Given the description of an element on the screen output the (x, y) to click on. 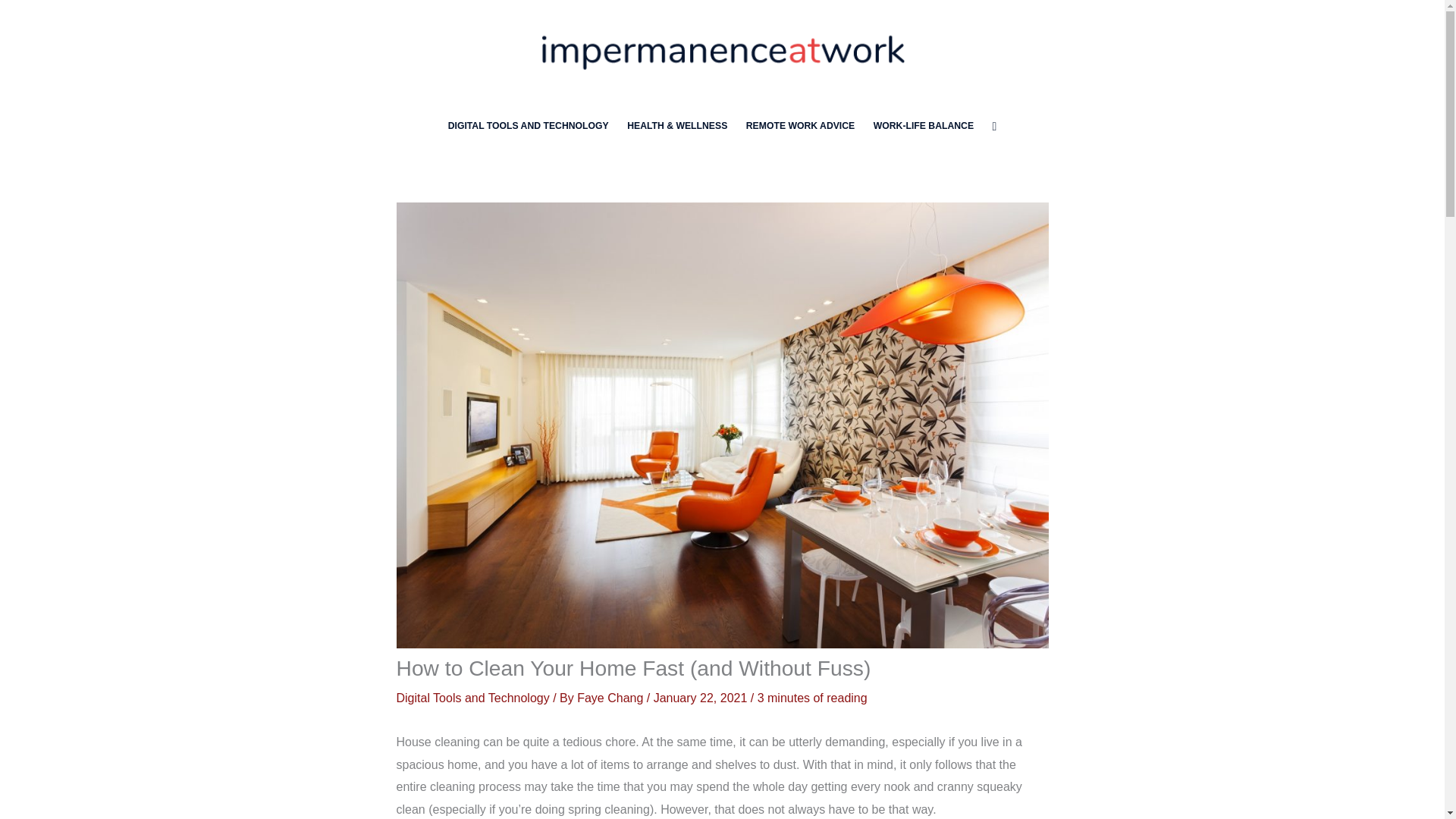
Digital Tools and Technology (472, 697)
DIGITAL TOOLS AND TECHNOLOGY (527, 125)
View all posts by Faye Chang (611, 697)
WORK-LIFE BALANCE (922, 125)
REMOTE WORK ADVICE (800, 125)
Faye Chang (611, 697)
